Given the description of an element on the screen output the (x, y) to click on. 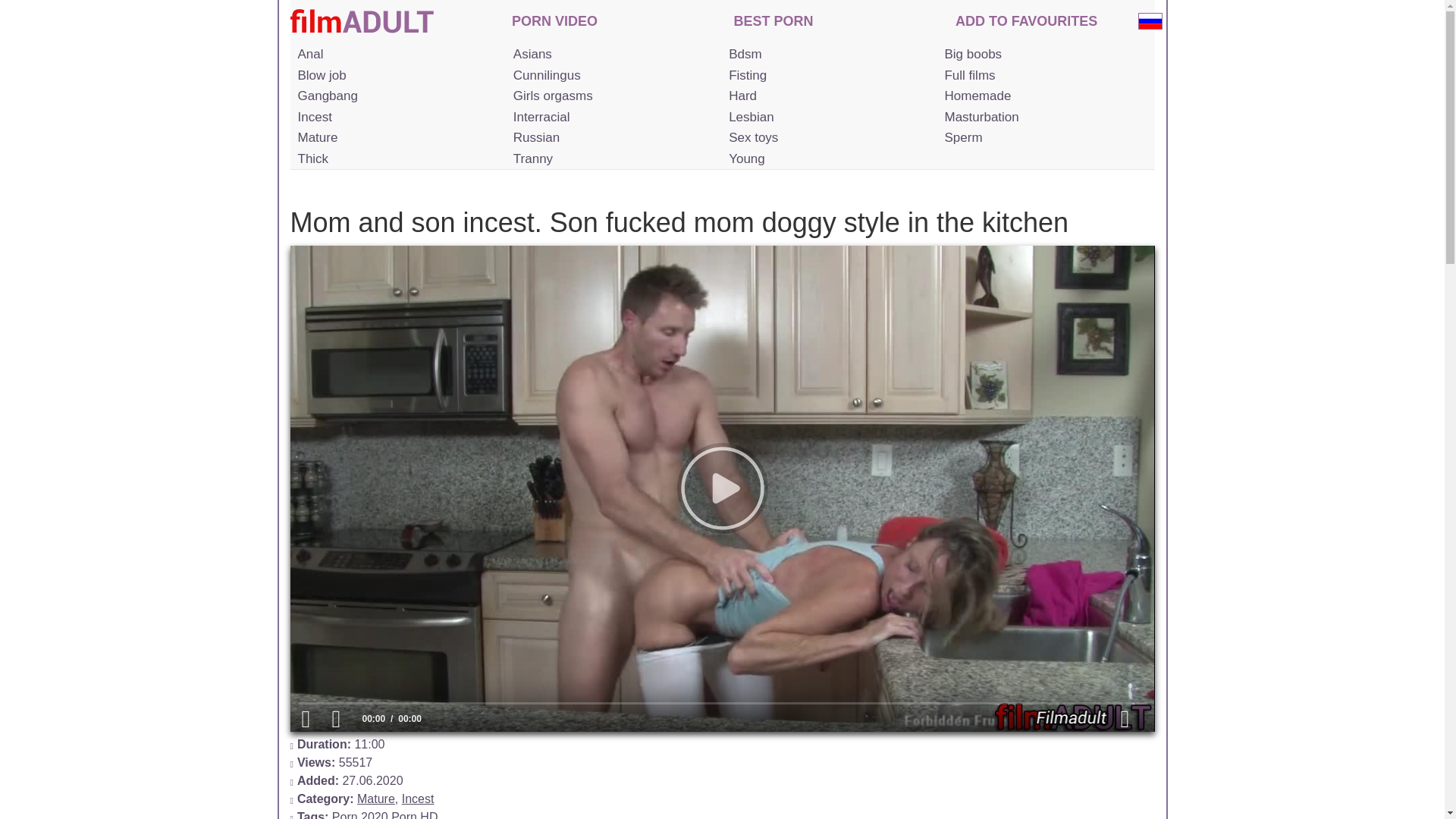
Sperm (1042, 137)
Fisting (826, 75)
Porn video with girls orgasms (611, 96)
Gangbang (395, 96)
Hard (826, 96)
Interracial porn, sex with blacks (611, 116)
Bdsm porn videos (826, 54)
Incest (395, 116)
Lesbian (826, 116)
Big tit porn. Big breasts (1042, 54)
